Given the description of an element on the screen output the (x, y) to click on. 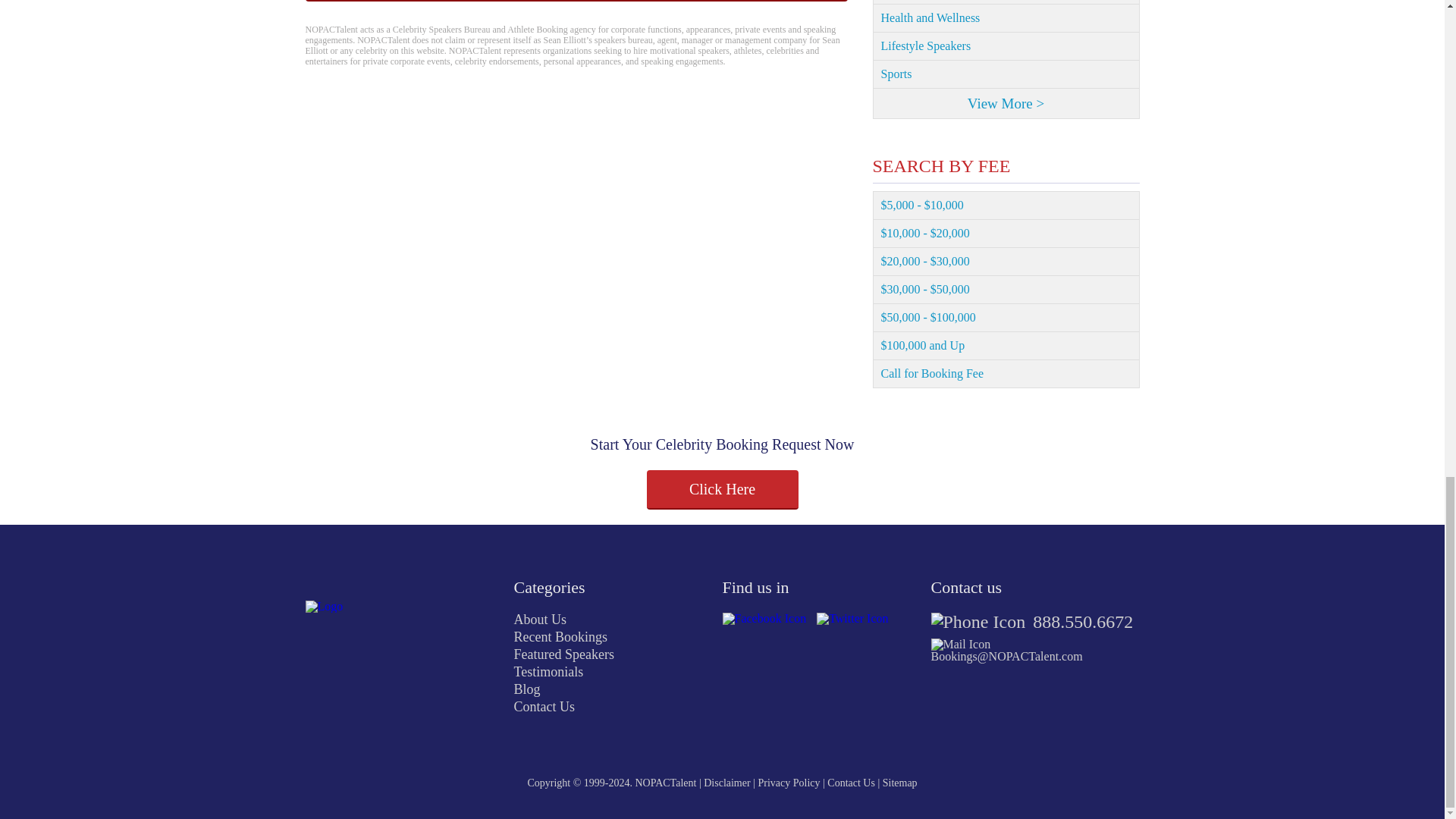
Health and Wellness (1005, 18)
Lifestyle Speakers (1005, 46)
Sports (1005, 74)
Entertainment (1005, 2)
